Given the description of an element on the screen output the (x, y) to click on. 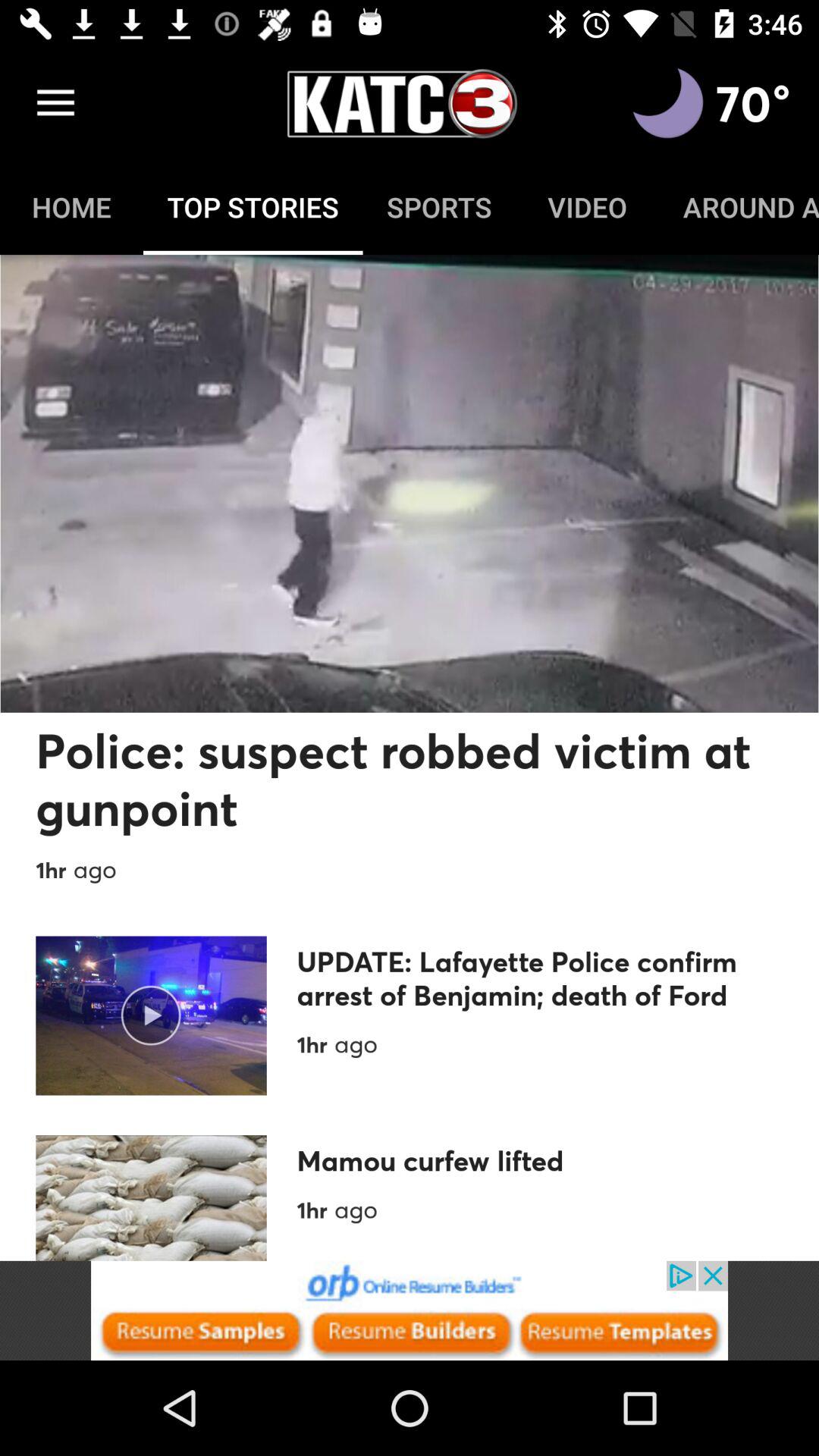
advertisement (409, 1310)
